Given the description of an element on the screen output the (x, y) to click on. 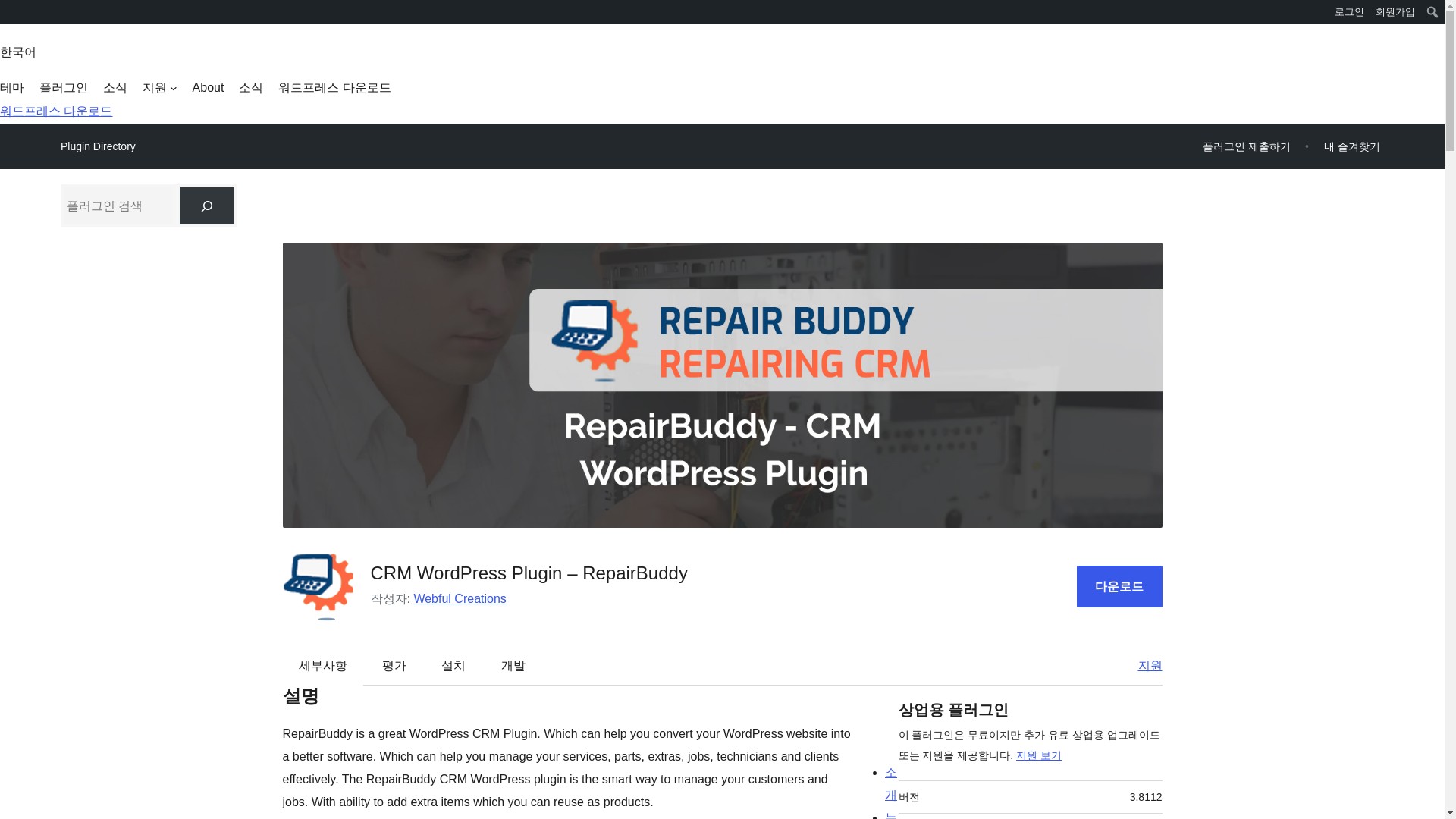
WordPress.org (10, 16)
Webful Creations (459, 598)
About (208, 87)
Plugin Directory (97, 146)
WordPress.org (10, 10)
